Given the description of an element on the screen output the (x, y) to click on. 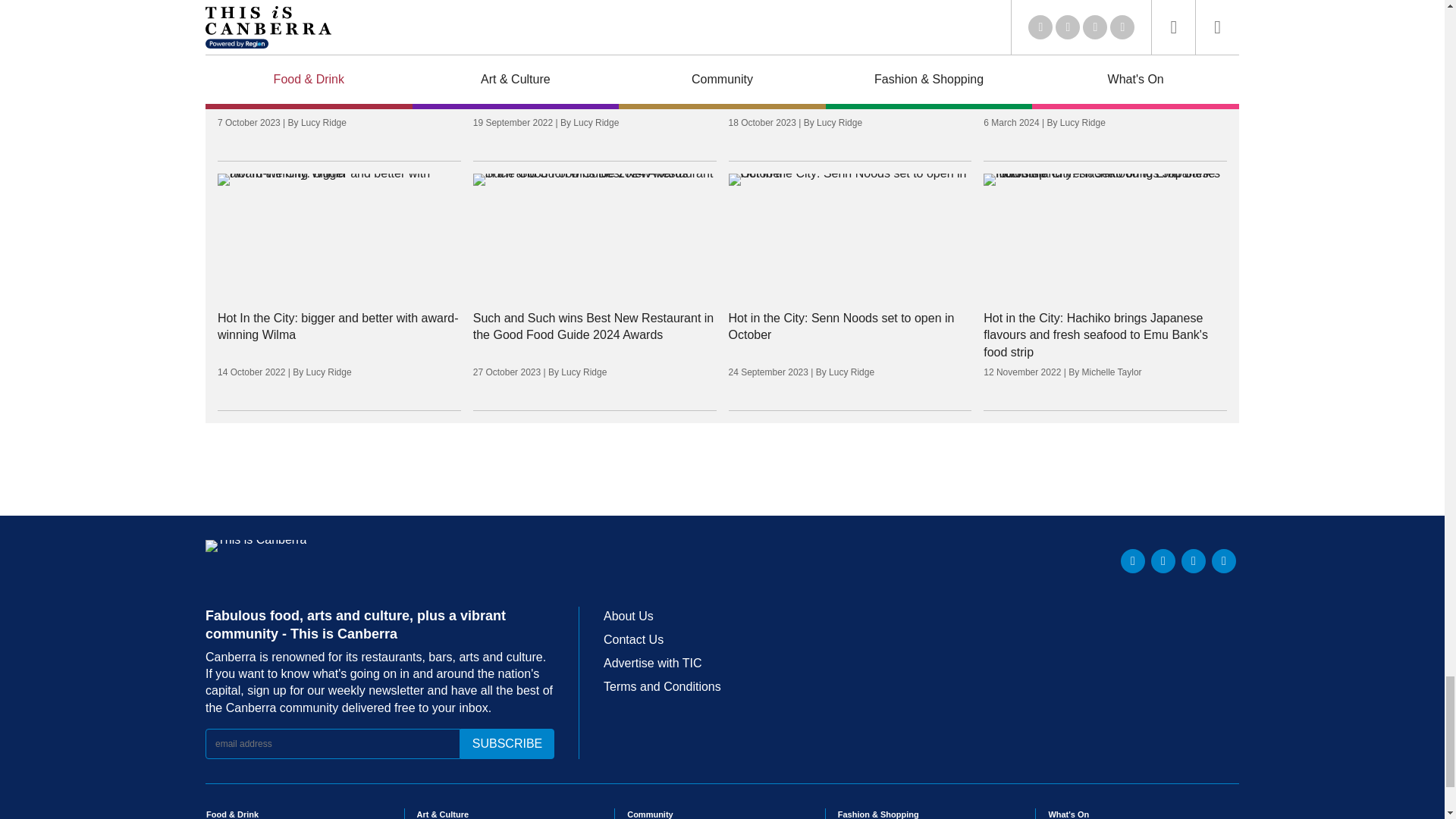
TikTok (1223, 560)
Facebook (1162, 560)
Instagram (1192, 560)
Twitter (1132, 560)
subscribe (507, 743)
